Given the description of an element on the screen output the (x, y) to click on. 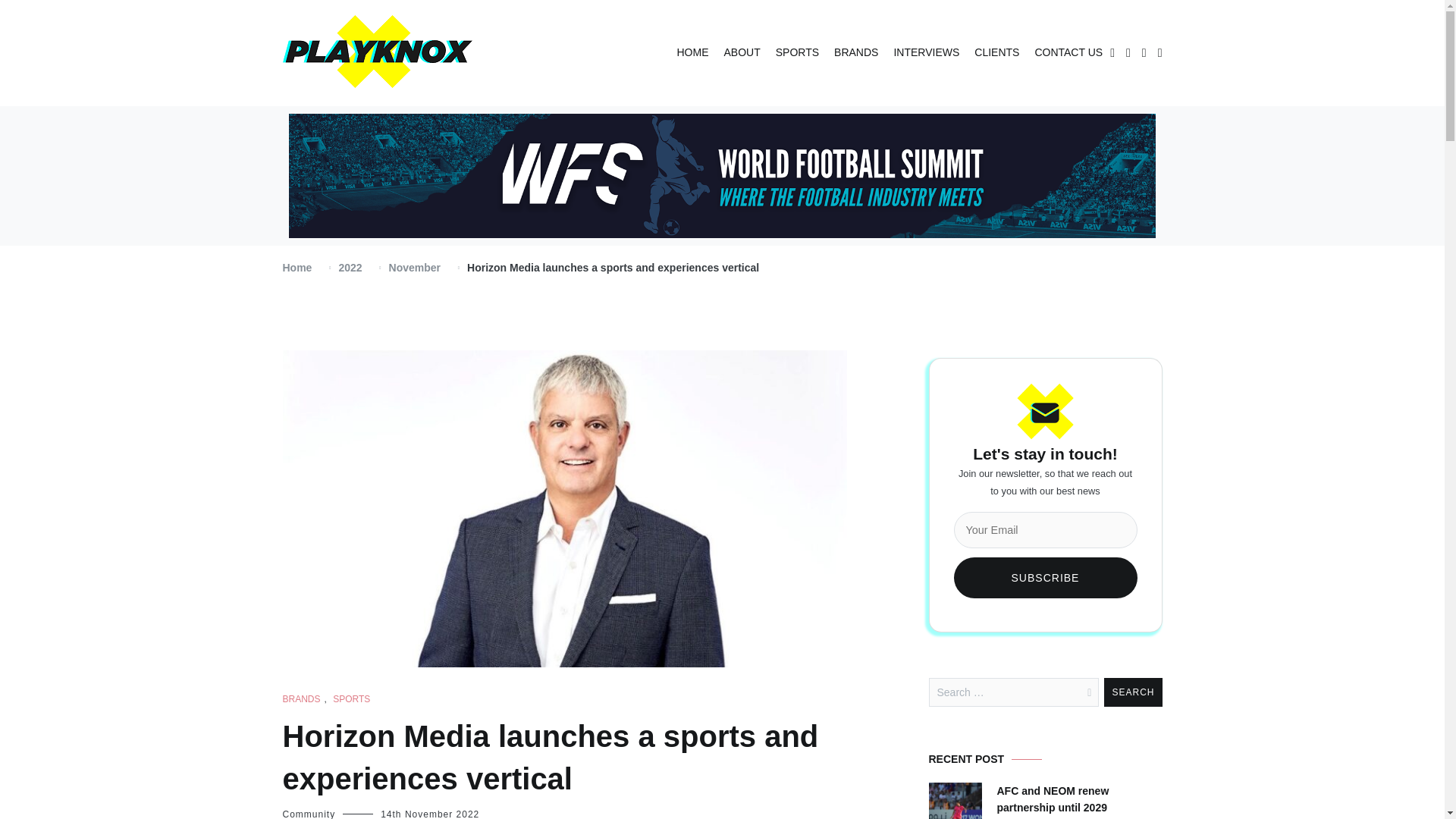
Search (1132, 692)
HOME (692, 53)
SPORTS (797, 53)
Subscribe (1045, 577)
AFC and NEOM renew partnership until 2029 (1078, 799)
Home (296, 267)
2022 (349, 267)
INTERVIEWS (926, 53)
BRANDS (855, 53)
The Playknox (333, 104)
Search (1132, 692)
CLIENTS (996, 53)
BRANDS (301, 699)
CONTACT US (1067, 53)
14th November 2022 (429, 814)
